Given the description of an element on the screen output the (x, y) to click on. 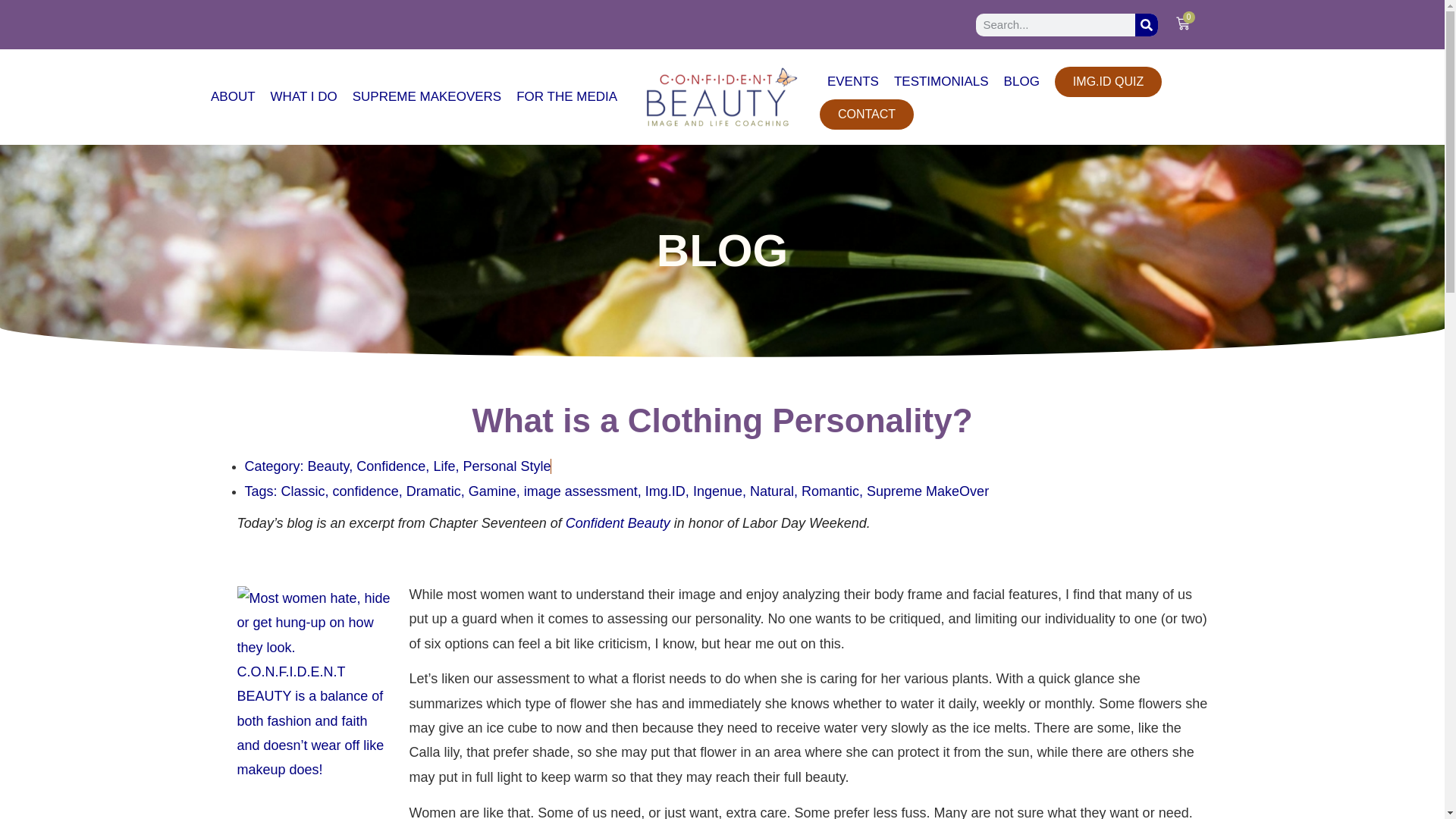
EVENTS (852, 81)
WHAT I DO (304, 96)
BLOG (1020, 81)
Store (617, 522)
ABOUT (233, 96)
FOR THE MEDIA (566, 96)
SUPREME MAKEOVERS (427, 96)
IMG.ID QUIZ (1107, 81)
TESTIMONIALS (940, 81)
CONTACT (866, 114)
